Given the description of an element on the screen output the (x, y) to click on. 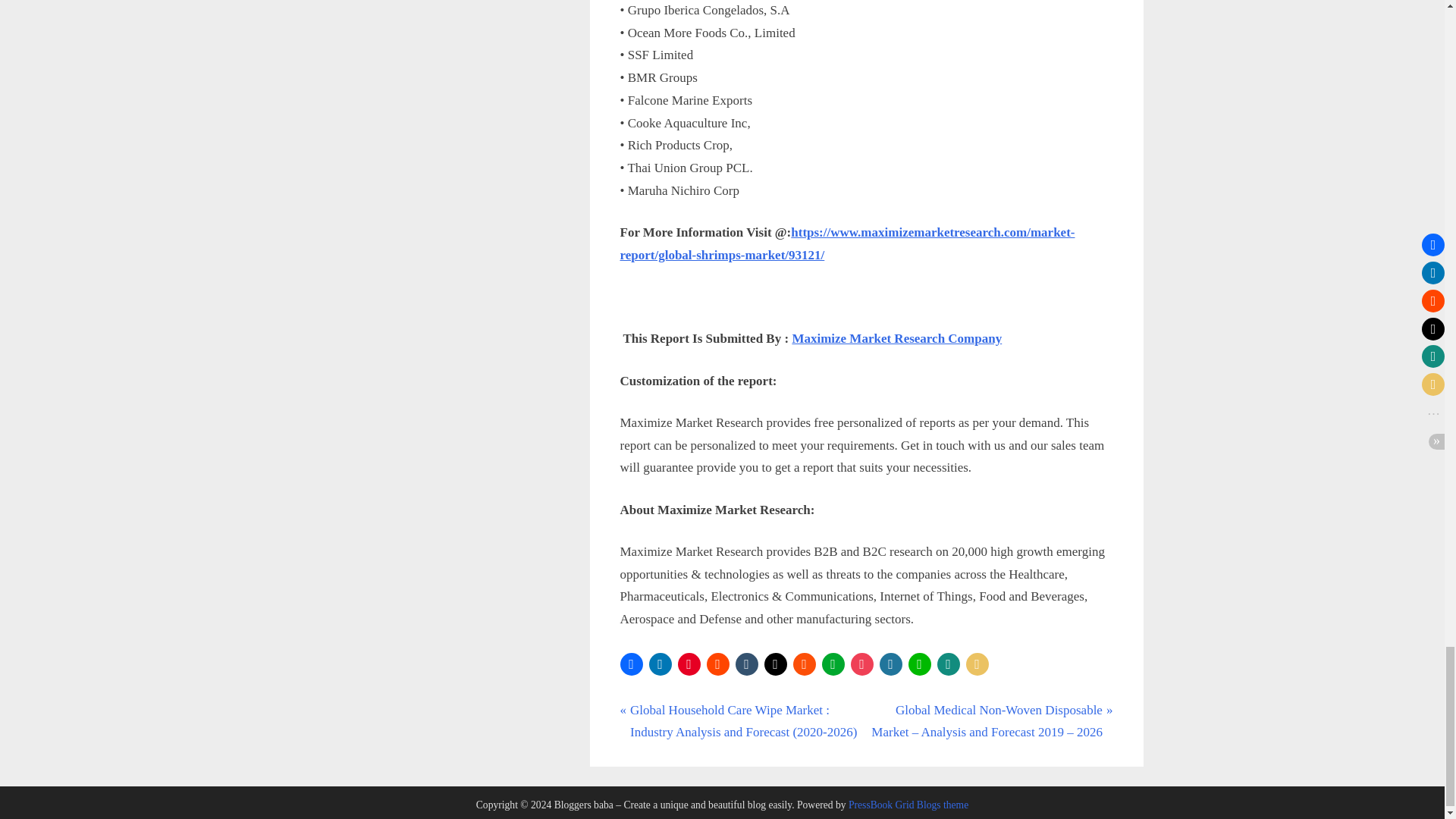
Maximize Market Research Company (896, 338)
